Given the description of an element on the screen output the (x, y) to click on. 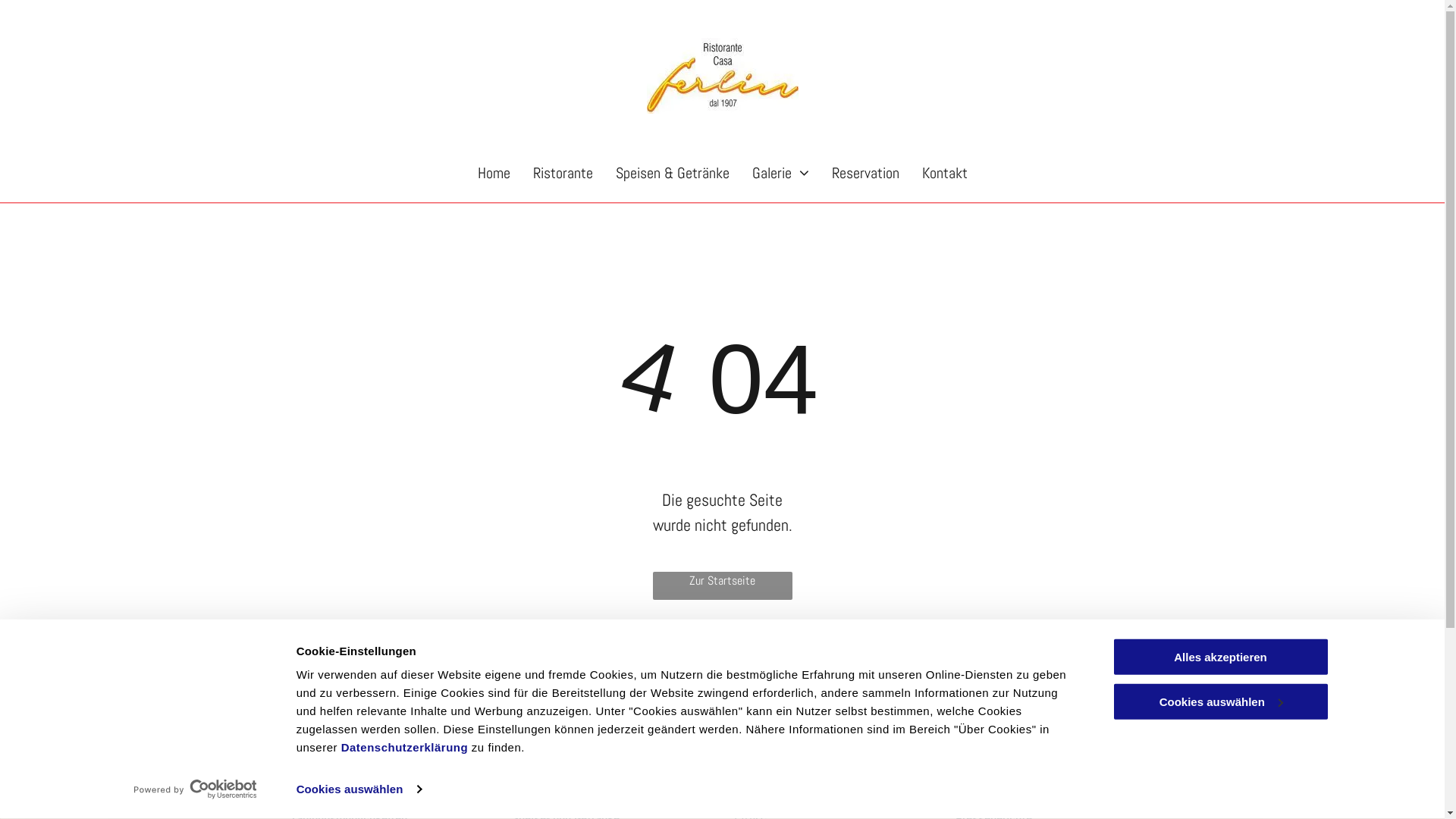
Galerie Element type: text (779, 172)
Kontakt Element type: text (944, 172)
Zur Startseite Element type: text (721, 585)
Reservation Element type: text (865, 172)
Tisch reservieren Element type: text (389, 696)
Alles akzeptieren Element type: text (1219, 656)
044 362 35 09 Element type: text (344, 745)
Ristorante Element type: text (562, 172)
Home Element type: text (492, 172)
